Given the description of an element on the screen output the (x, y) to click on. 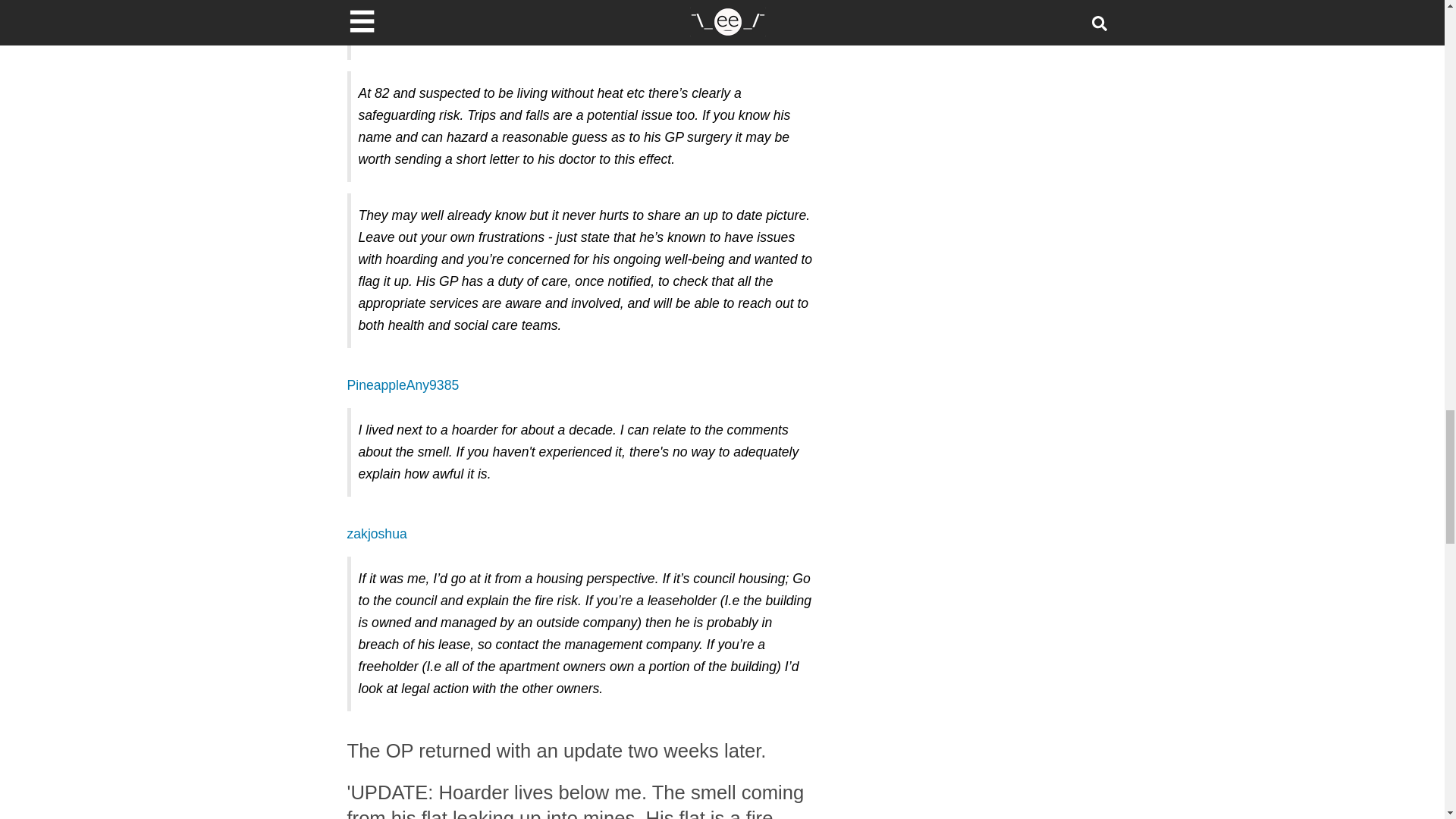
PineappleAny9385 (403, 385)
zakjoshua (377, 533)
